Given the description of an element on the screen output the (x, y) to click on. 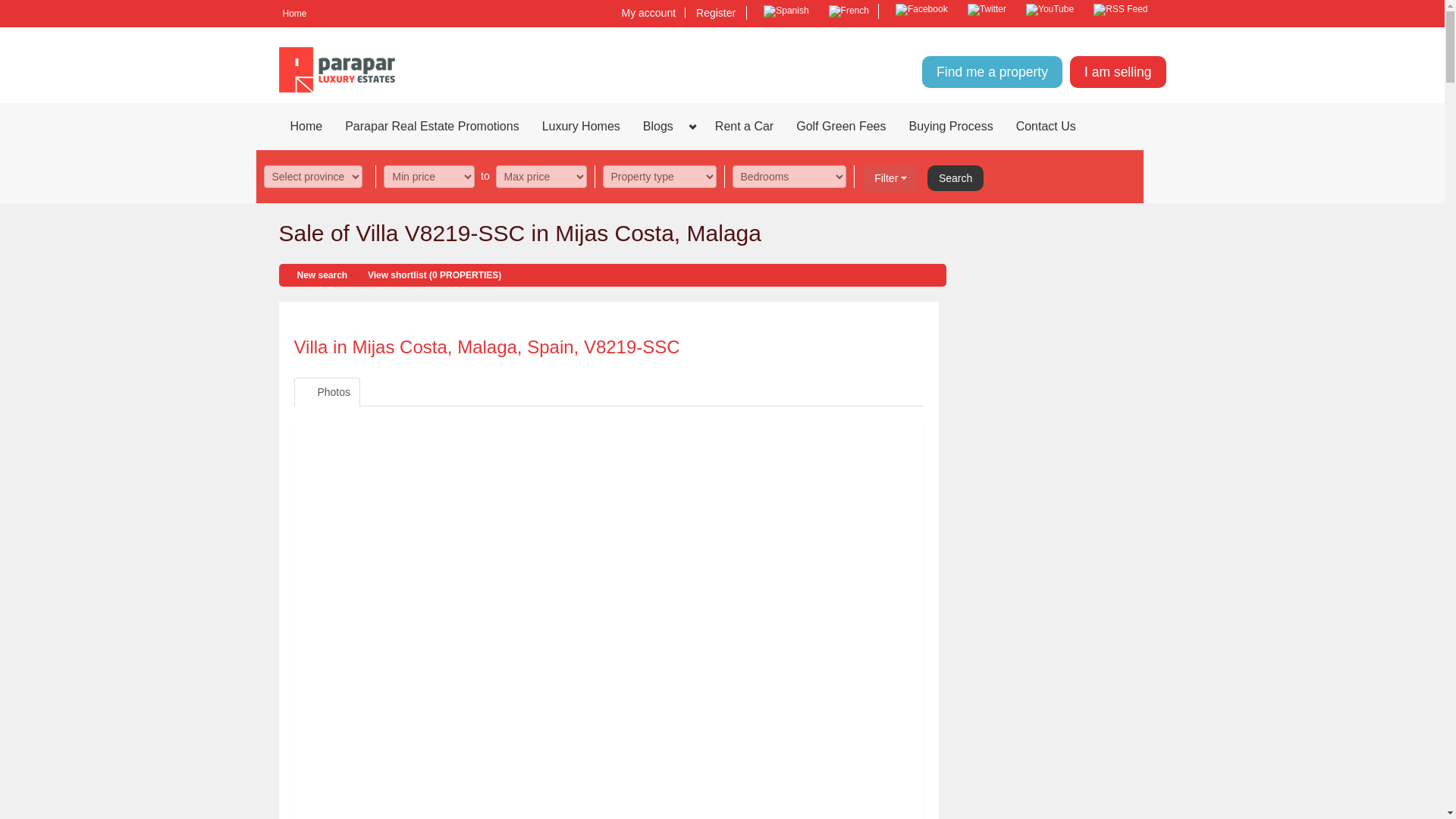
Twitter (986, 9)
Register (715, 12)
Search (955, 177)
Golf Green Fees (840, 126)
YouTube (1049, 9)
Parapar Real Estate Promotions (431, 126)
Contact Us (1045, 126)
Golf Green Fees (840, 126)
I am selling (1118, 71)
Luxury Homes (581, 126)
Rent a Car (743, 126)
Parapar Real Estate Promotions (431, 126)
New search (316, 275)
Home (295, 13)
Filter  (890, 177)
